Given the description of an element on the screen output the (x, y) to click on. 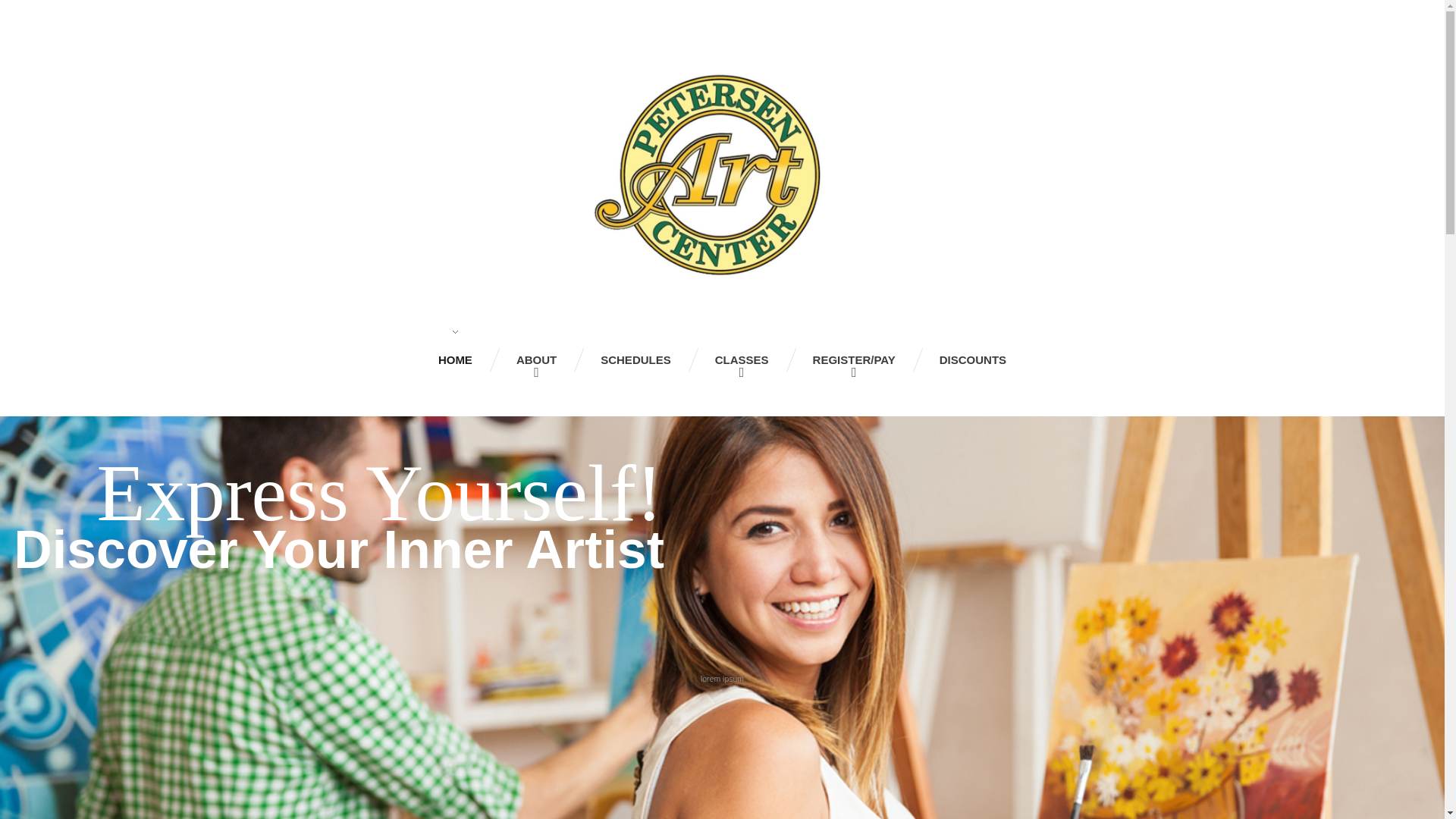
DISCOUNTS (973, 359)
HOME (455, 359)
SCHEDULES (635, 359)
ABOUT (536, 359)
CLASSES (742, 359)
